Given the description of an element on the screen output the (x, y) to click on. 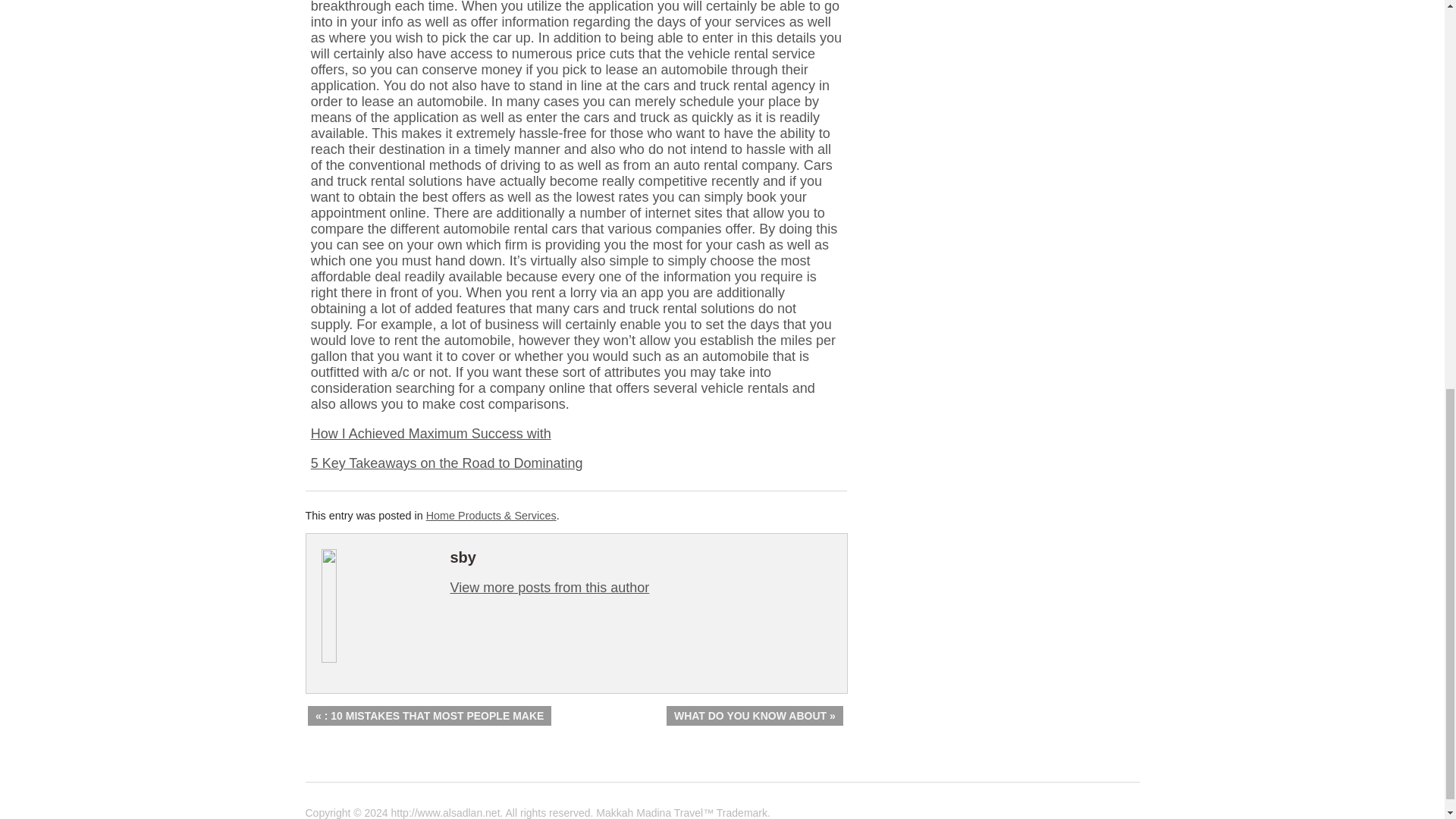
5 Key Takeaways on the Road to Dominating (447, 462)
How I Achieved Maximum Success with (431, 433)
View more posts from this author (549, 587)
